Given the description of an element on the screen output the (x, y) to click on. 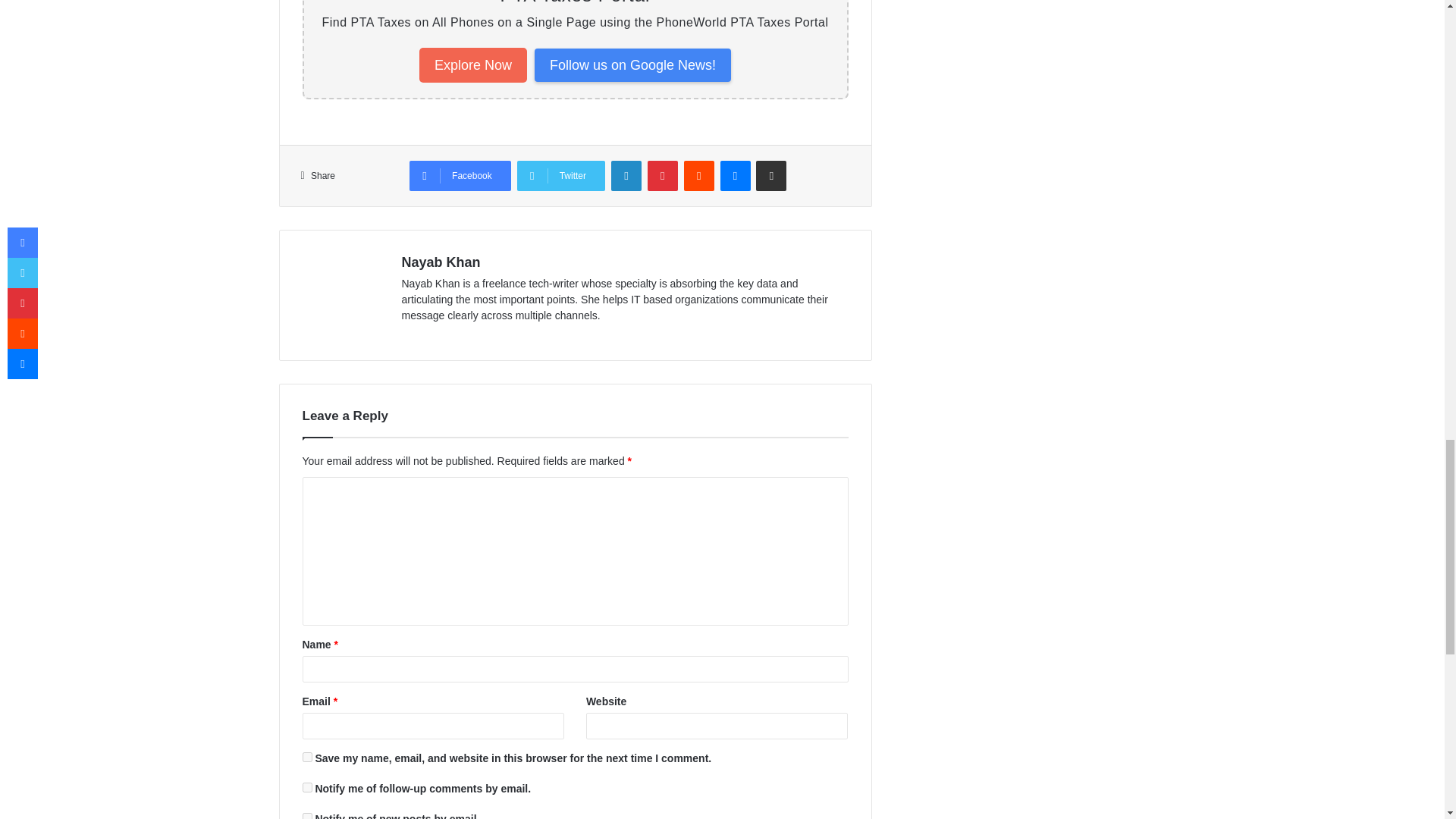
yes (306, 757)
subscribe (306, 787)
subscribe (306, 816)
